Given the description of an element on the screen output the (x, y) to click on. 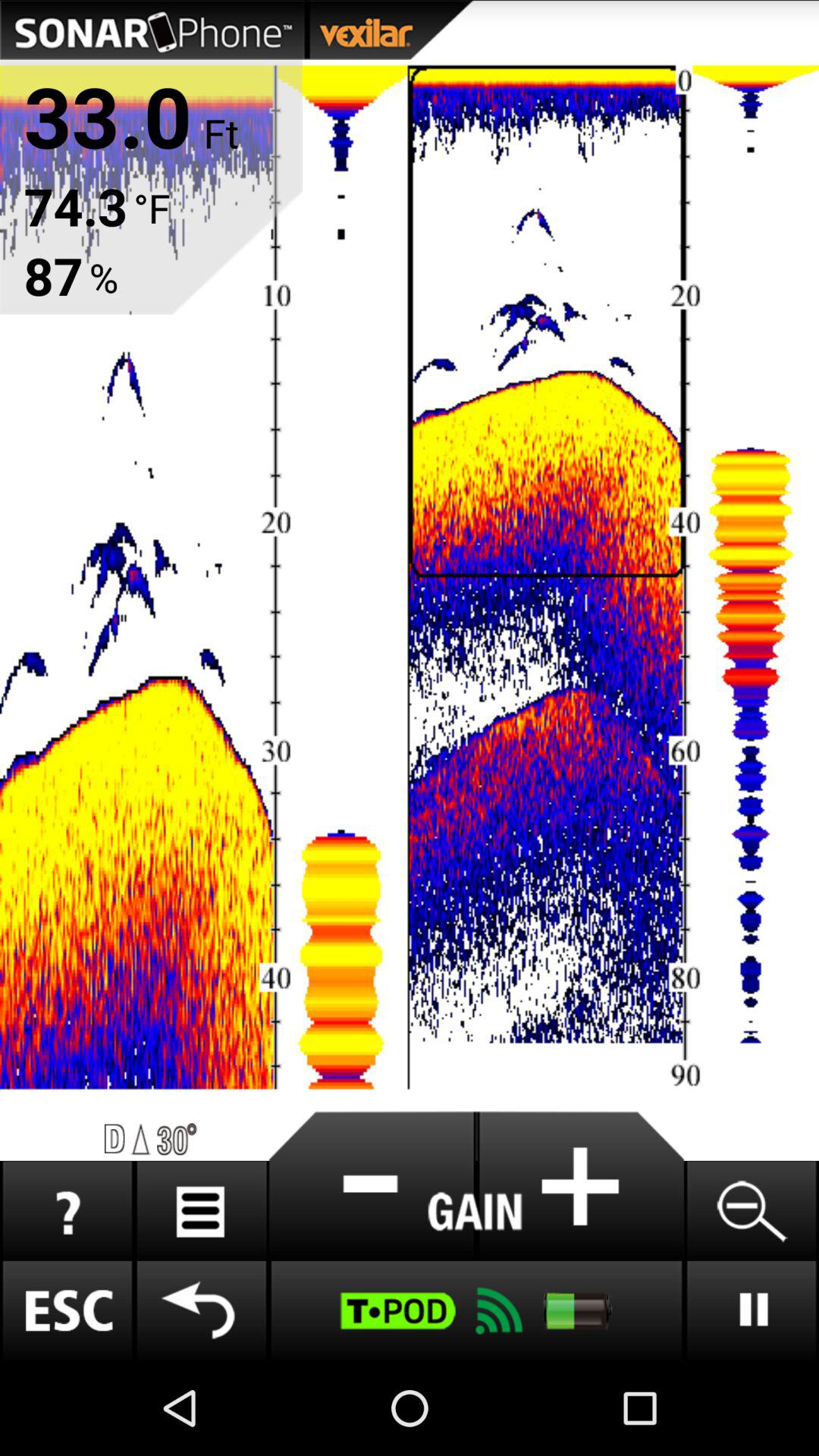
question mark (67, 1210)
